Given the description of an element on the screen output the (x, y) to click on. 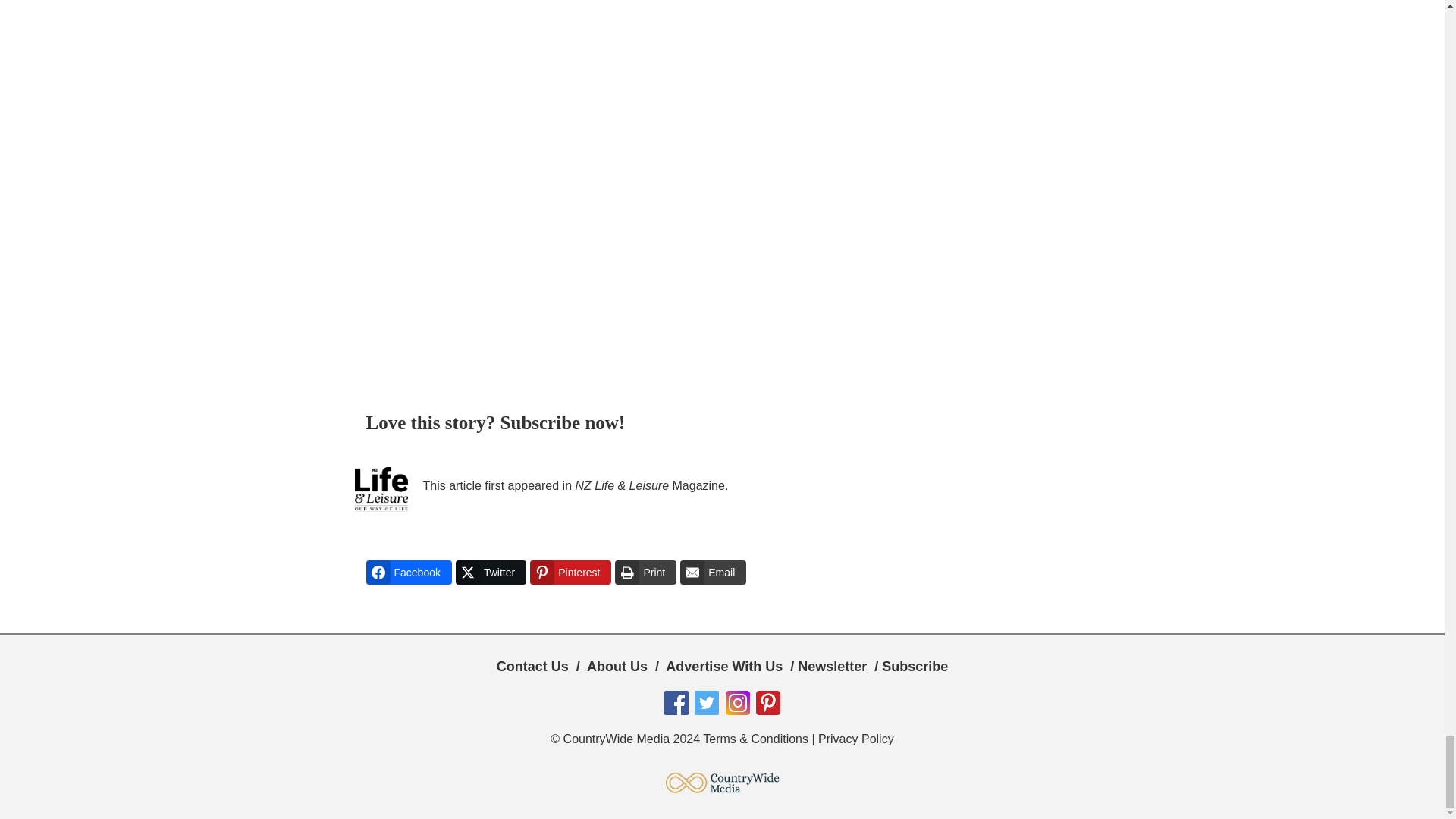
Share on Facebook (408, 572)
Print (645, 572)
Facebook (408, 572)
Pinterest (570, 572)
Twitter (490, 572)
Share on Pinterest (570, 572)
Email (712, 572)
Share on Print (645, 572)
Share on Twitter (490, 572)
Subscribe now! (563, 422)
Share on Email (712, 572)
